Given the description of an element on the screen output the (x, y) to click on. 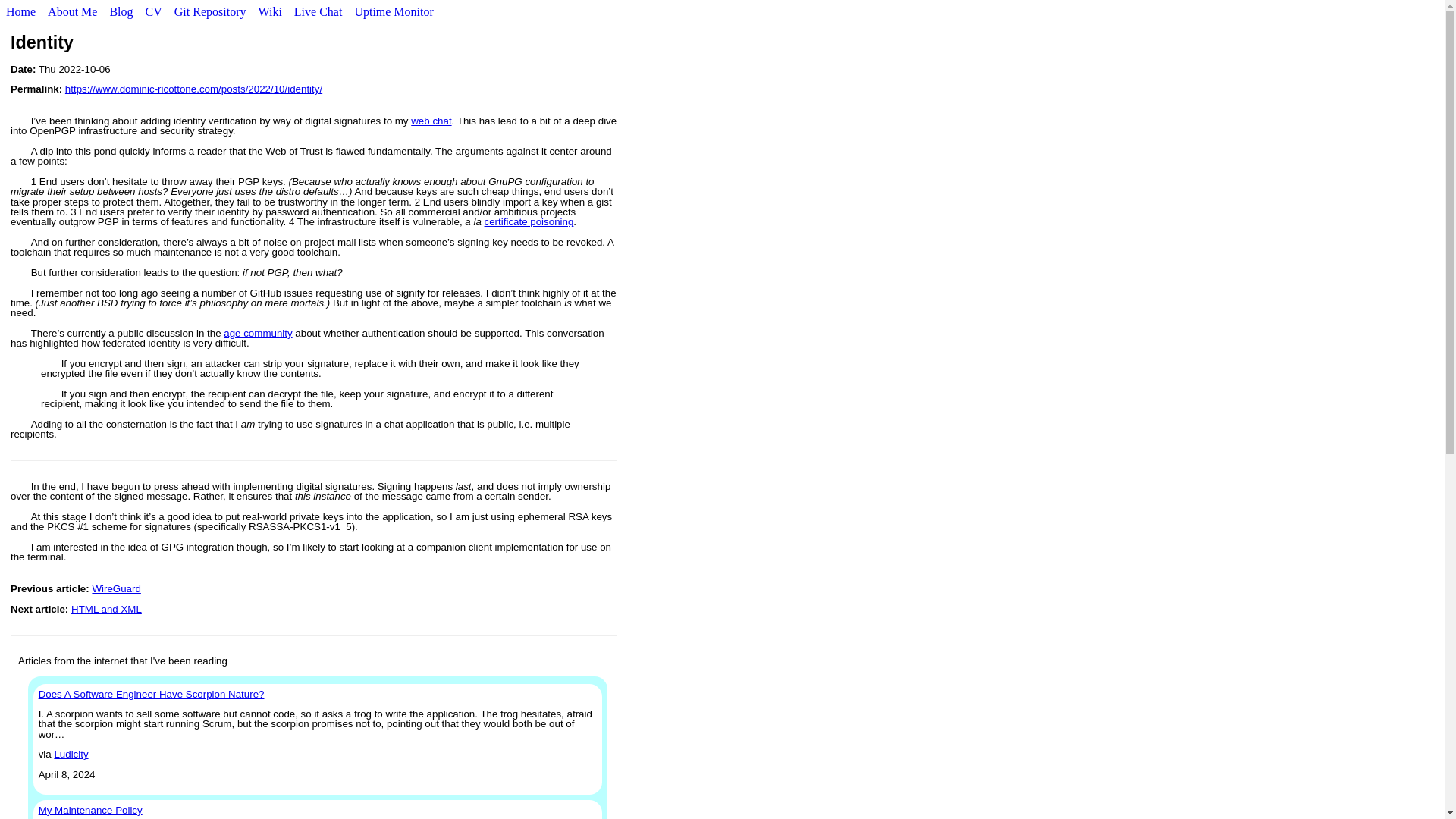
Git Repository (209, 11)
CV (153, 11)
web chat (430, 120)
Ludicity (70, 754)
HTML and XML (106, 609)
certificate poisoning (528, 221)
My Maintenance Policy (90, 809)
Wiki (268, 11)
Blog (120, 11)
Does A Software Engineer Have Scorpion Nature? (151, 694)
Live Chat (318, 11)
WireGuard (115, 588)
Home (21, 11)
About Me (72, 11)
Uptime Monitor (393, 11)
